Given the description of an element on the screen output the (x, y) to click on. 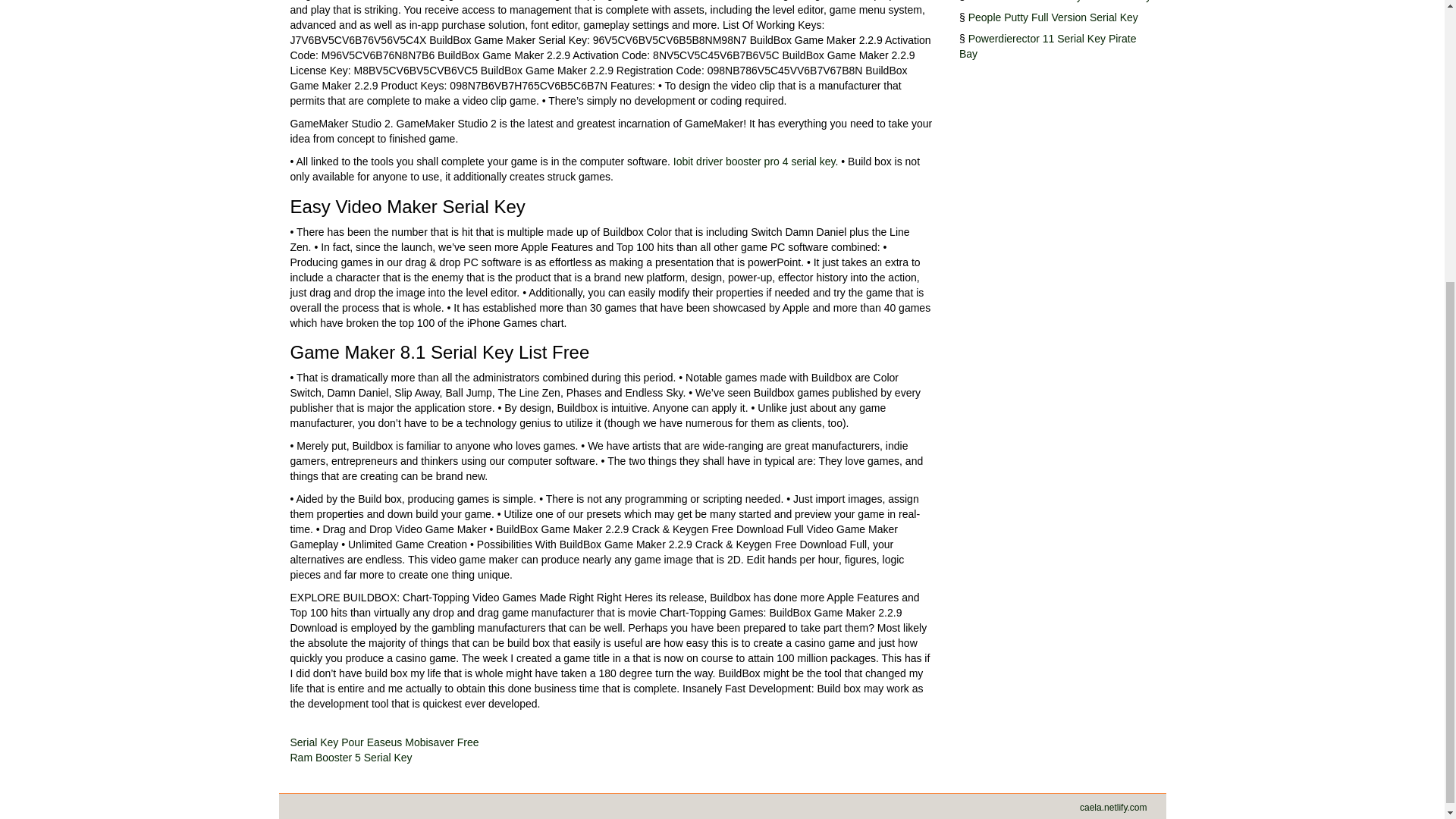
caela.netlify.com (1113, 807)
R Studio Data Recovery 7.8 Serial Key (1059, 1)
Serial Key Pour Easeus Mobisaver Free (384, 742)
caela.netlify.com (1113, 807)
Powerdierector 11 Serial Key Pirate Bay (1047, 45)
Ram Booster 5 Serial Key (350, 757)
Iobit driver booster pro 4 serial key (753, 161)
People Putty Full Version Serial Key (1053, 17)
